Given the description of an element on the screen output the (x, y) to click on. 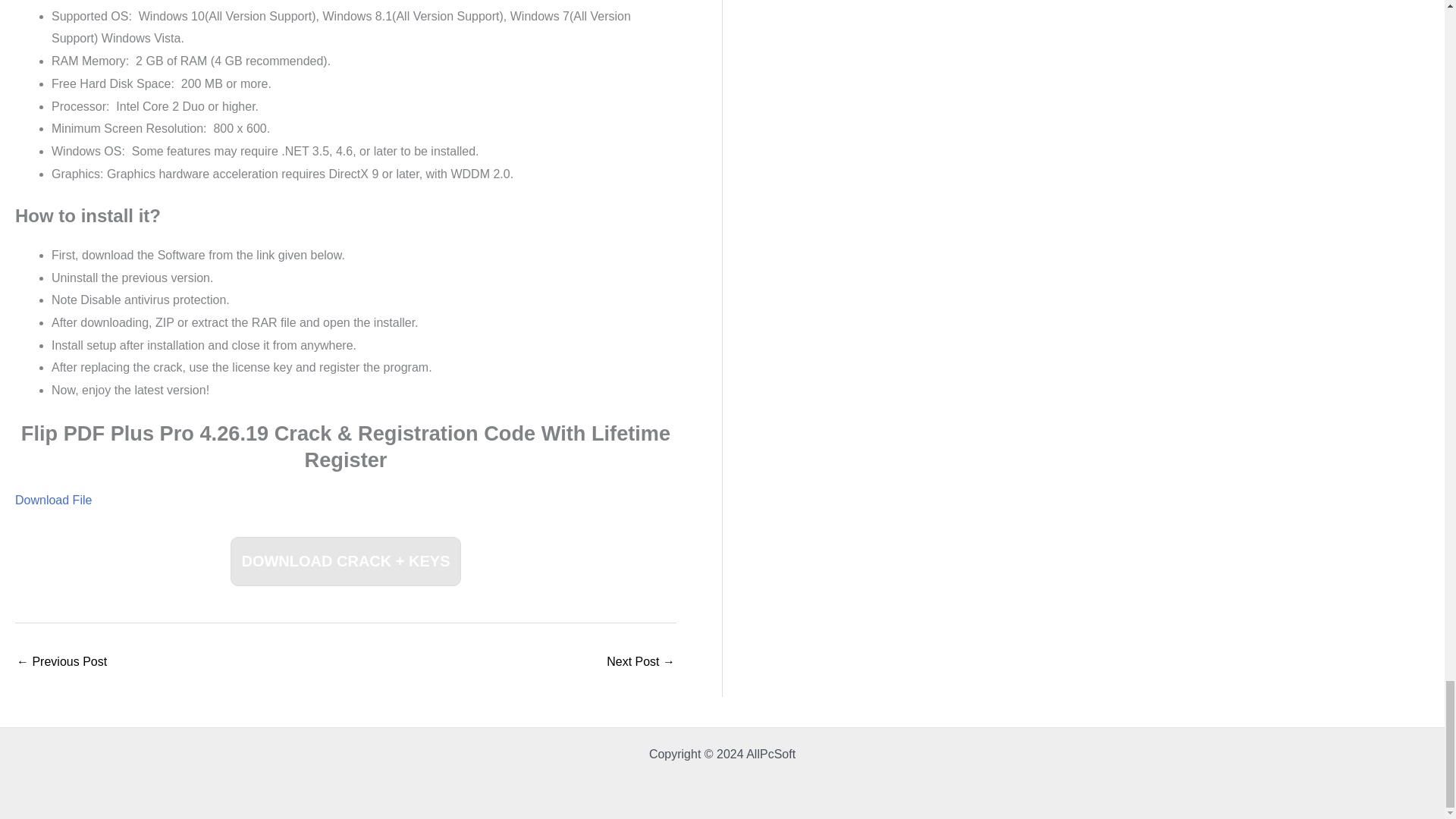
Download File (52, 499)
